Given the description of an element on the screen output the (x, y) to click on. 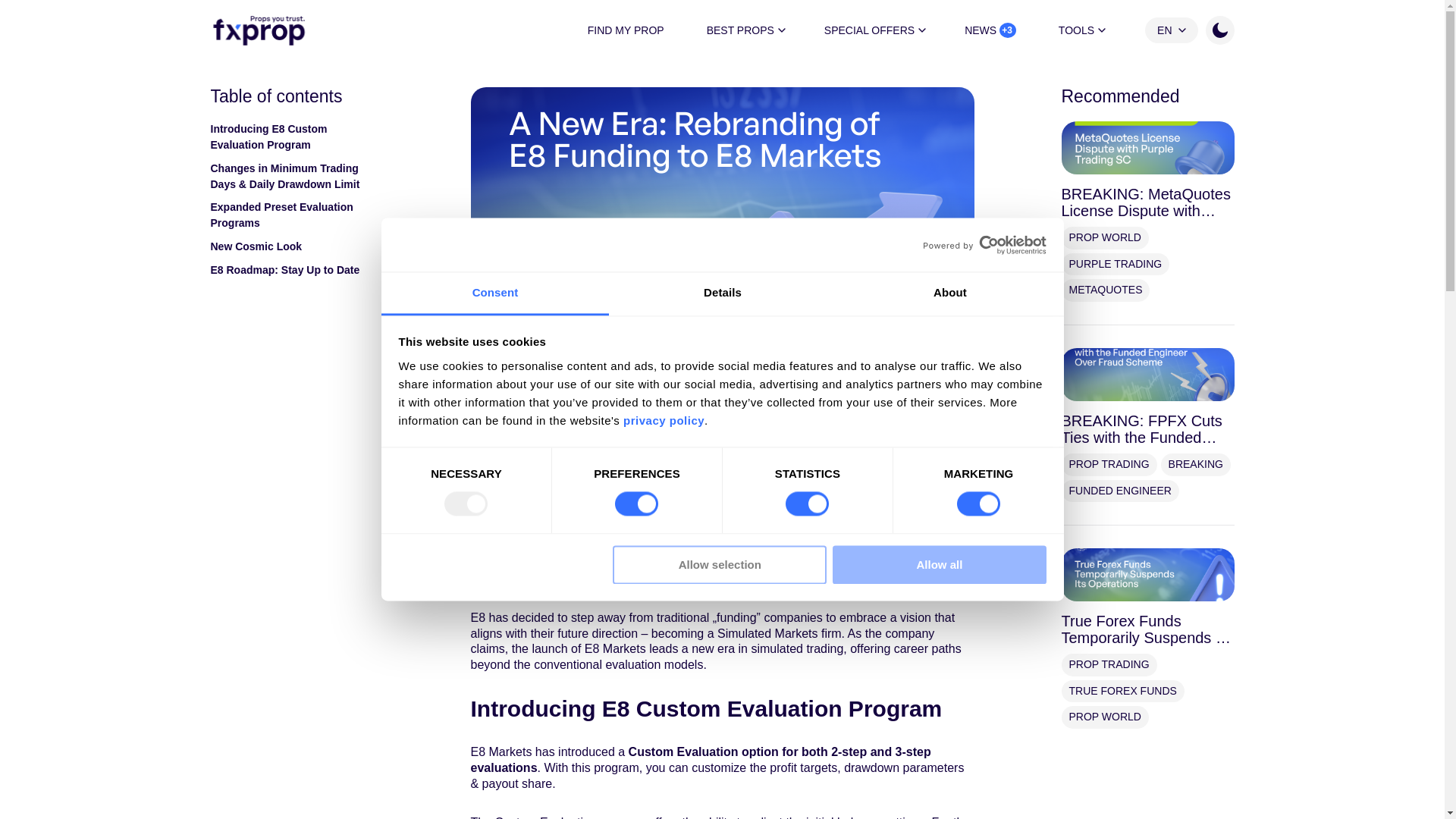
privacy-policy (663, 420)
English (1170, 30)
Details (721, 293)
privacy policy (663, 420)
About (948, 293)
Allow selection (719, 564)
Consent (494, 293)
